Given the description of an element on the screen output the (x, y) to click on. 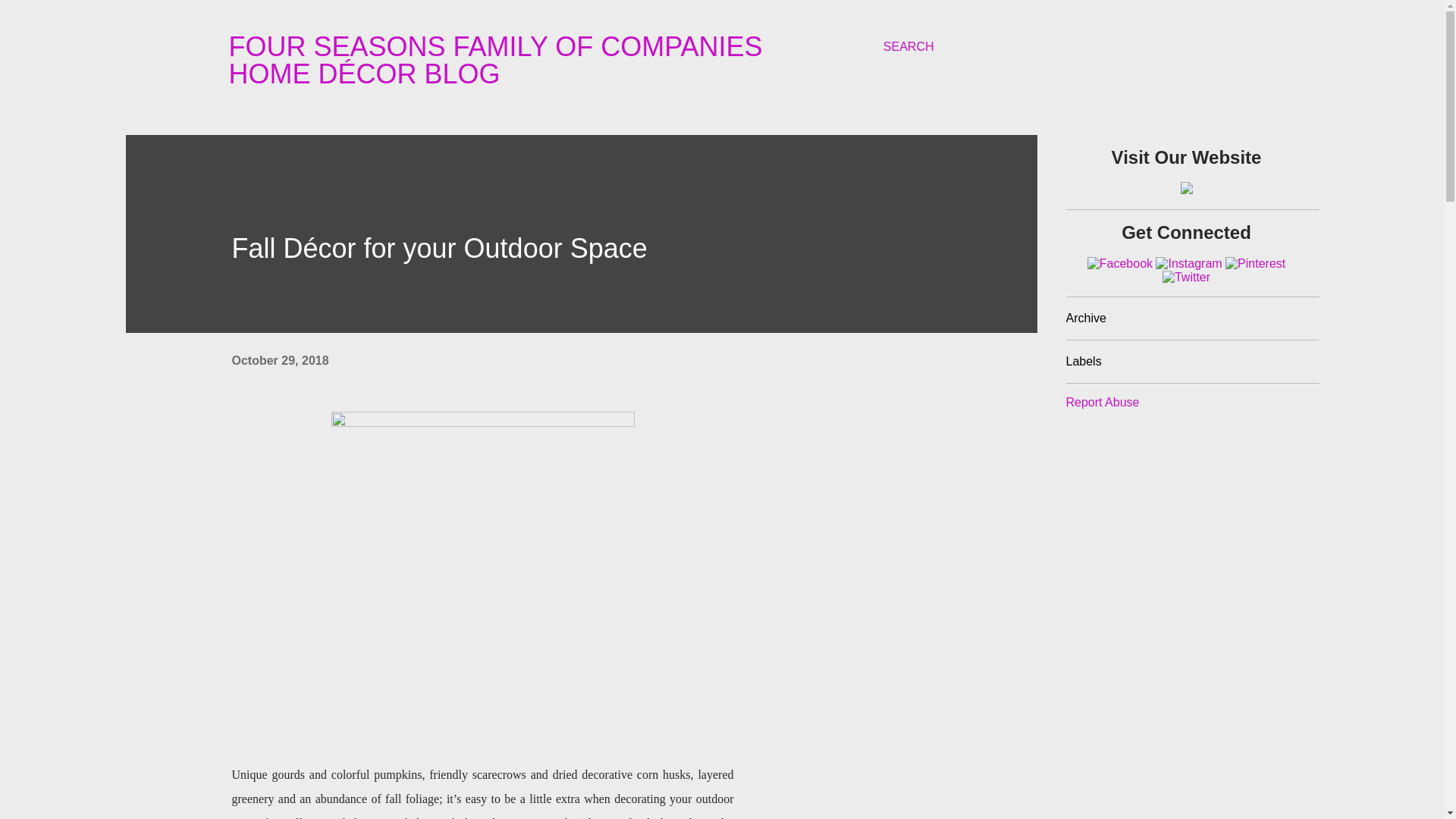
October 29, 2018 (280, 359)
permanent link (280, 359)
SEARCH (908, 46)
